Given the description of an element on the screen output the (x, y) to click on. 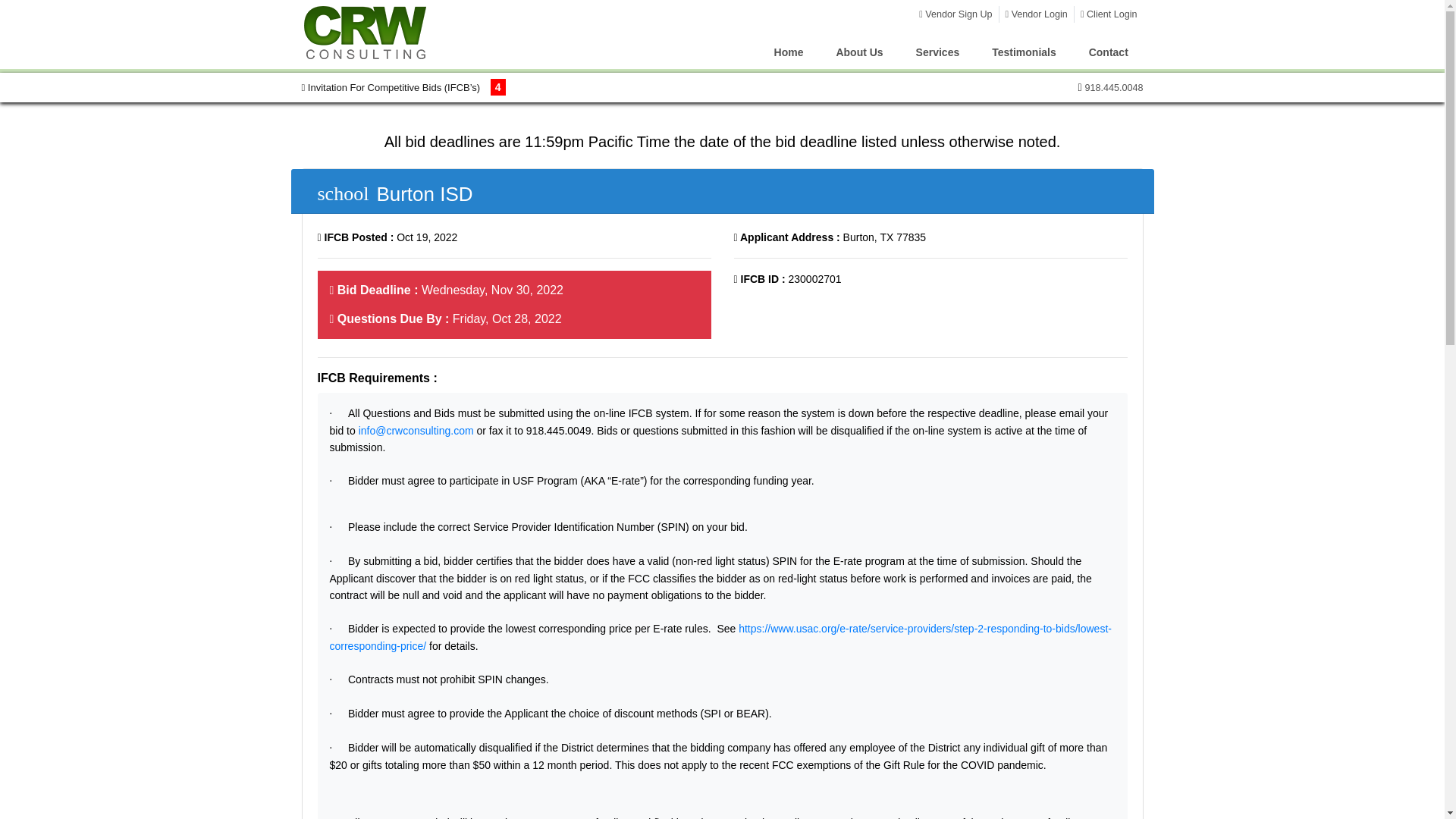
Contact (1107, 51)
Vendor Login (1036, 14)
About Us (860, 51)
Vendor Sign Up (954, 14)
Testimonials (1024, 51)
CRW Consulting (366, 32)
Home (787, 51)
Services (937, 51)
CRW Consulting (366, 31)
Client Login (1108, 14)
